Given the description of an element on the screen output the (x, y) to click on. 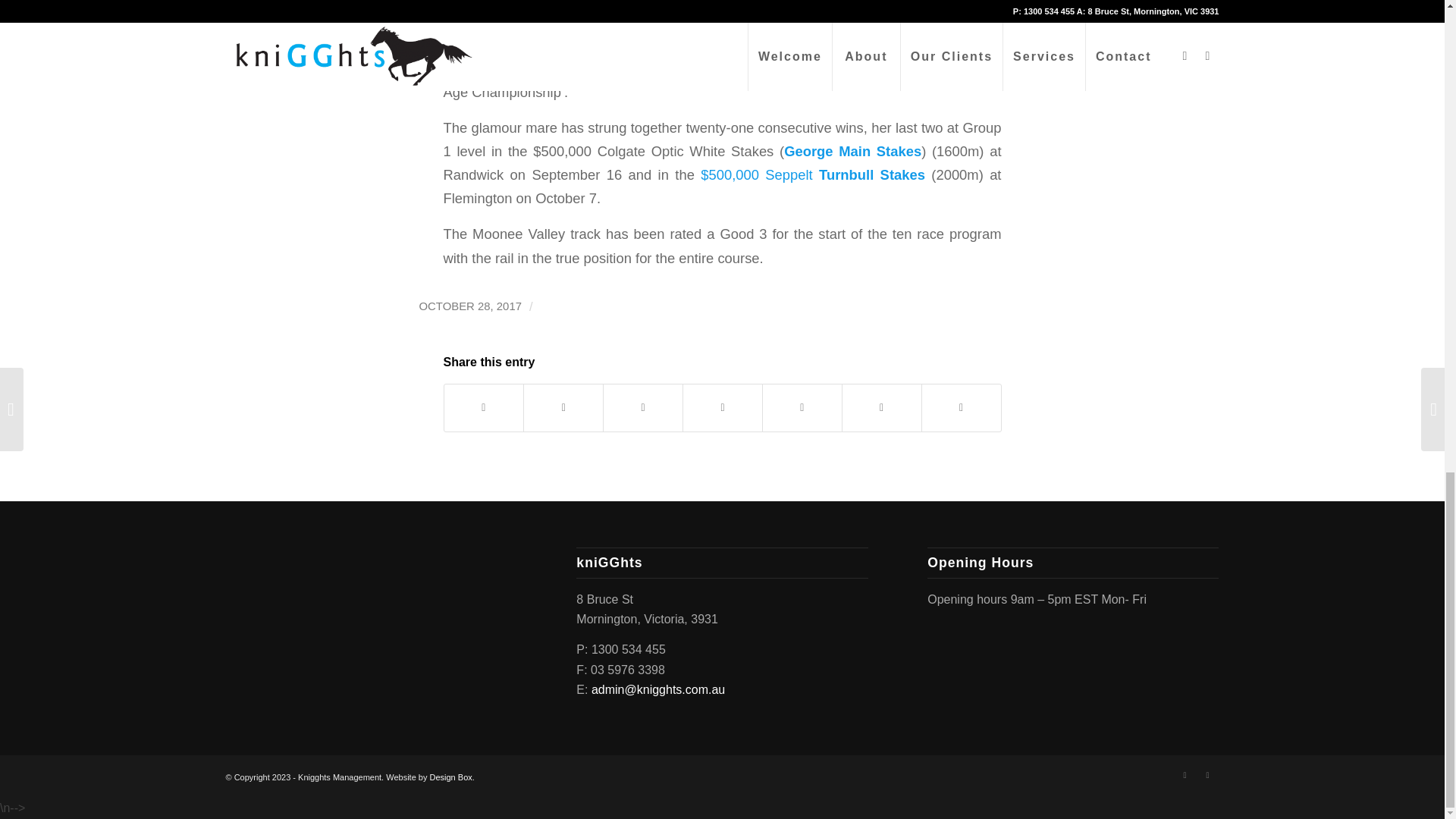
Facebook (1184, 774)
Twitter (1208, 774)
Design Box (450, 777)
